Given the description of an element on the screen output the (x, y) to click on. 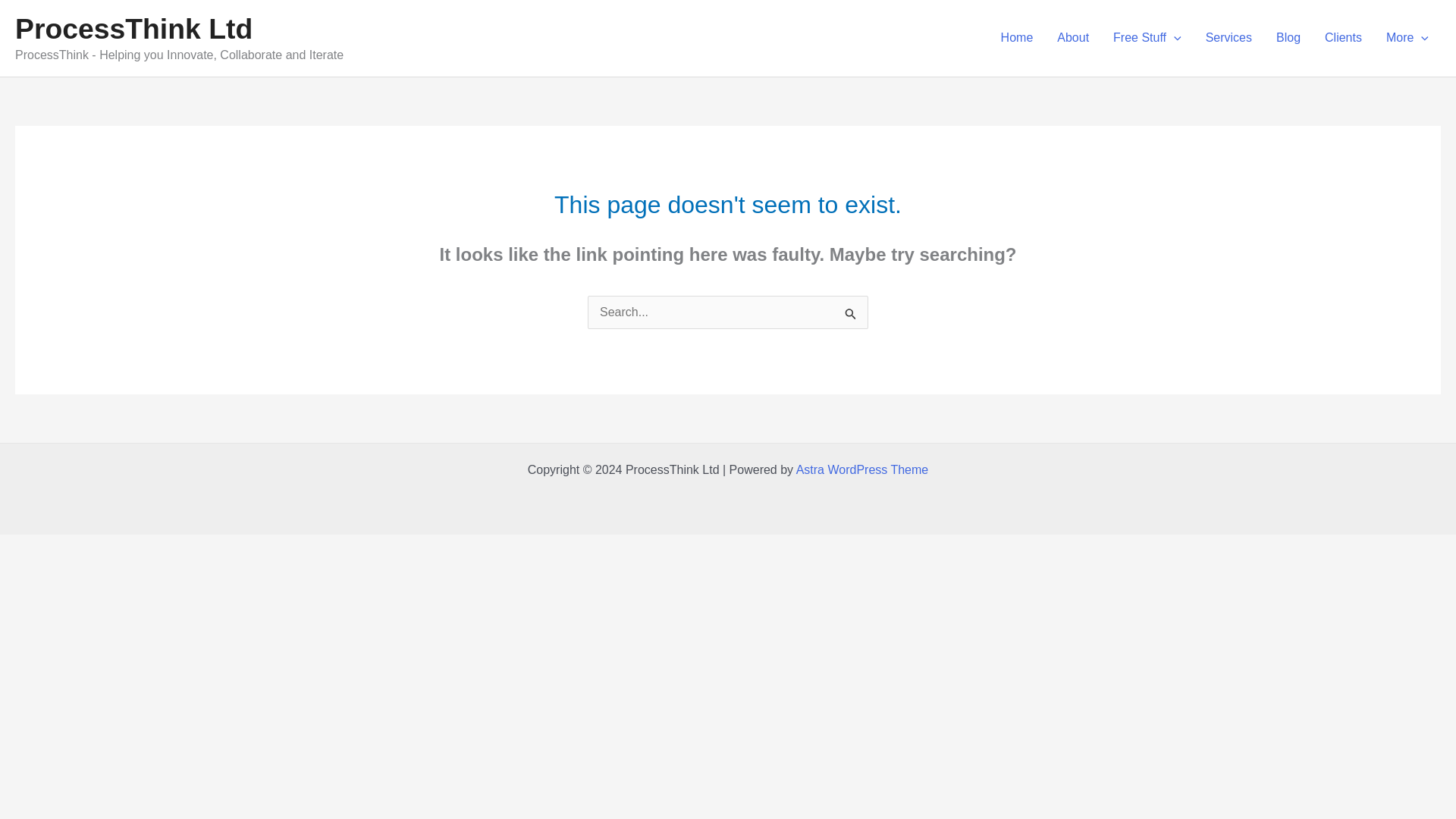
More (1407, 37)
Clients (1343, 37)
Blog (1288, 37)
About (1072, 37)
Astra WordPress Theme (862, 469)
Home (1016, 37)
Free Stuff (1146, 37)
ProcessThink Ltd (132, 29)
Services (1228, 37)
